Given the description of an element on the screen output the (x, y) to click on. 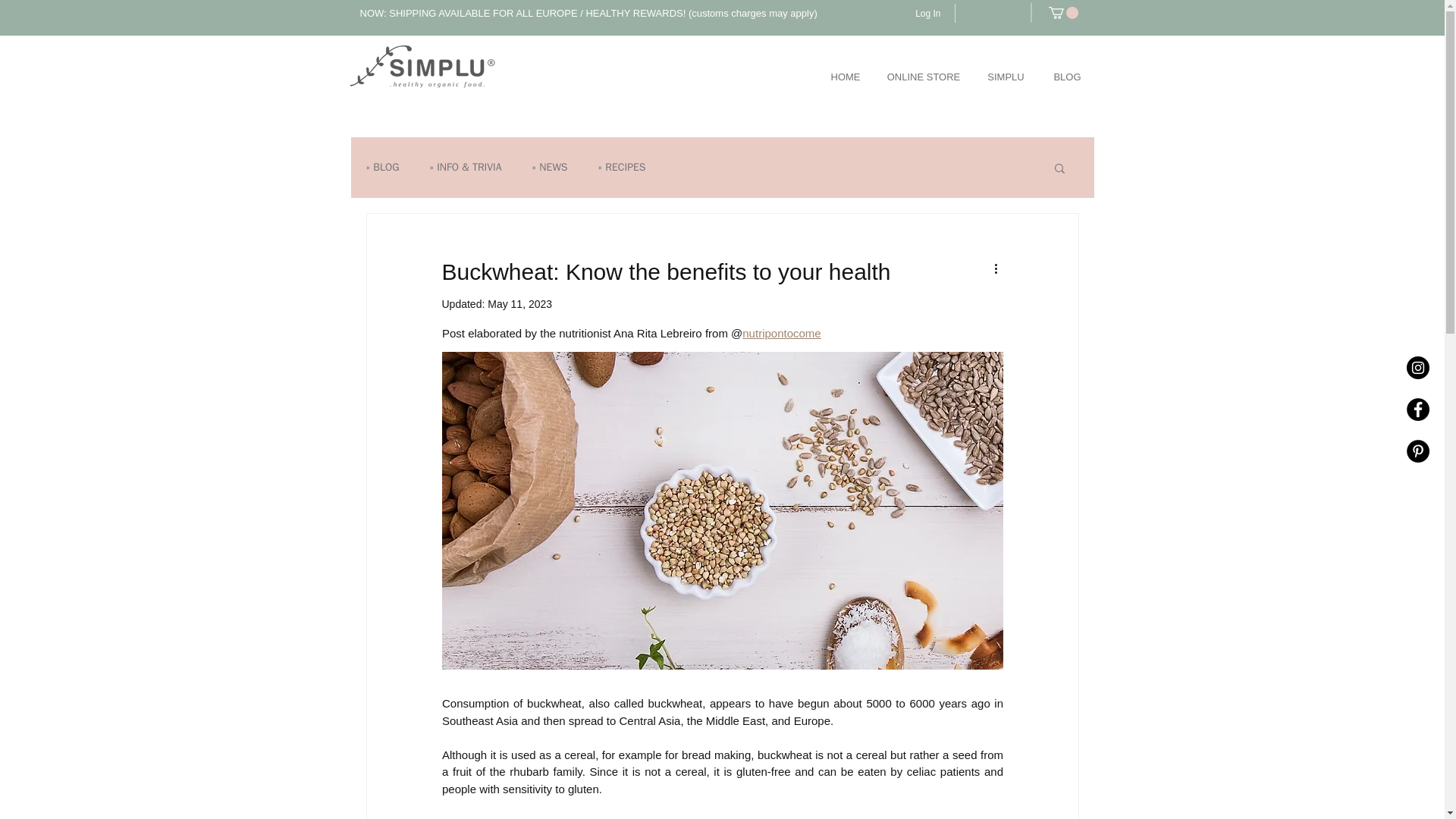
May 11, 2023 (519, 304)
Log In (927, 14)
BLOG (1066, 77)
nutripontocome (781, 332)
ONLINE STORE (923, 77)
HOME (845, 77)
